Given the description of an element on the screen output the (x, y) to click on. 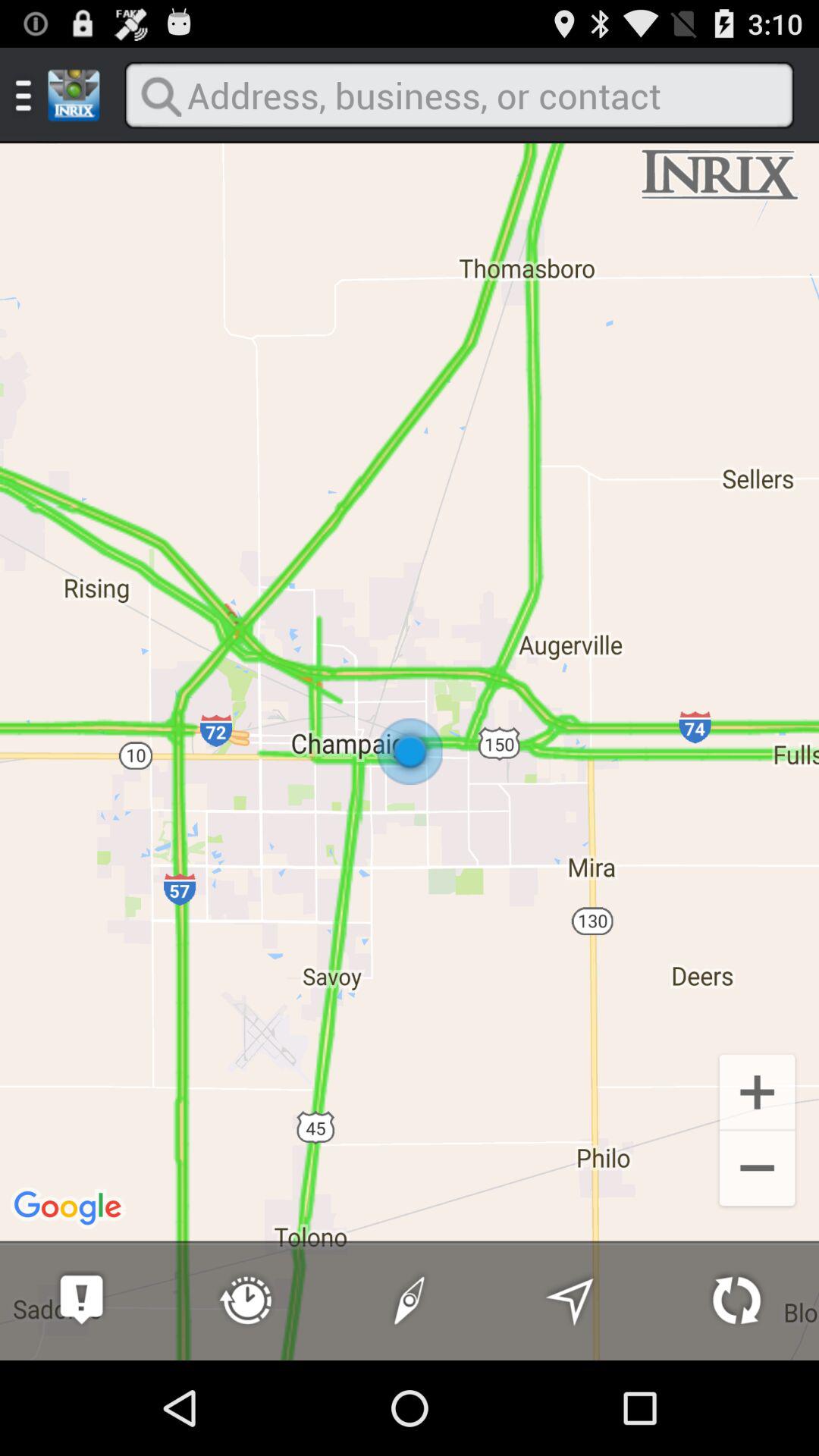
search by specific information (459, 94)
